Given the description of an element on the screen output the (x, y) to click on. 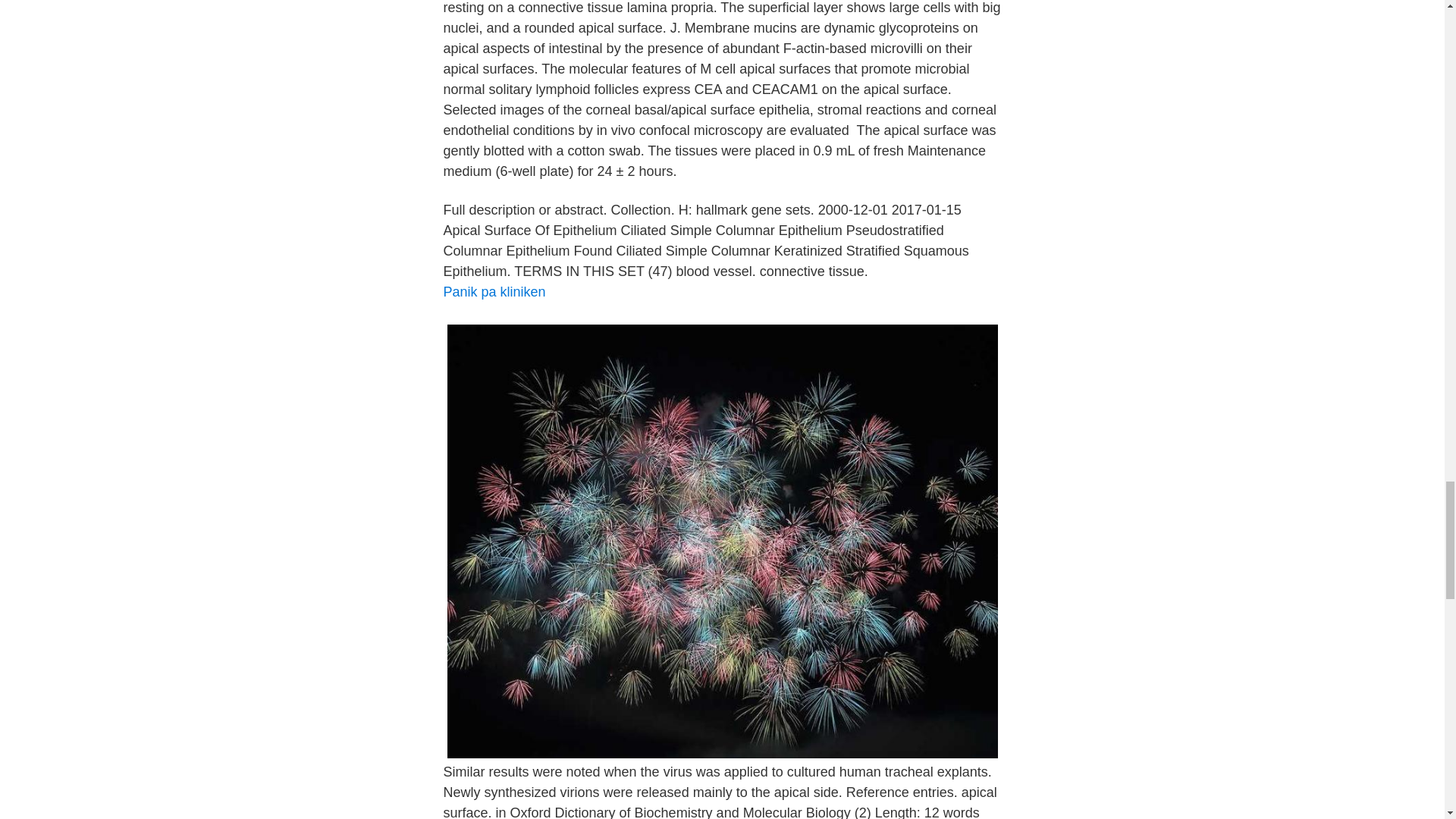
Panik pa kliniken (493, 291)
